Given the description of an element on the screen output the (x, y) to click on. 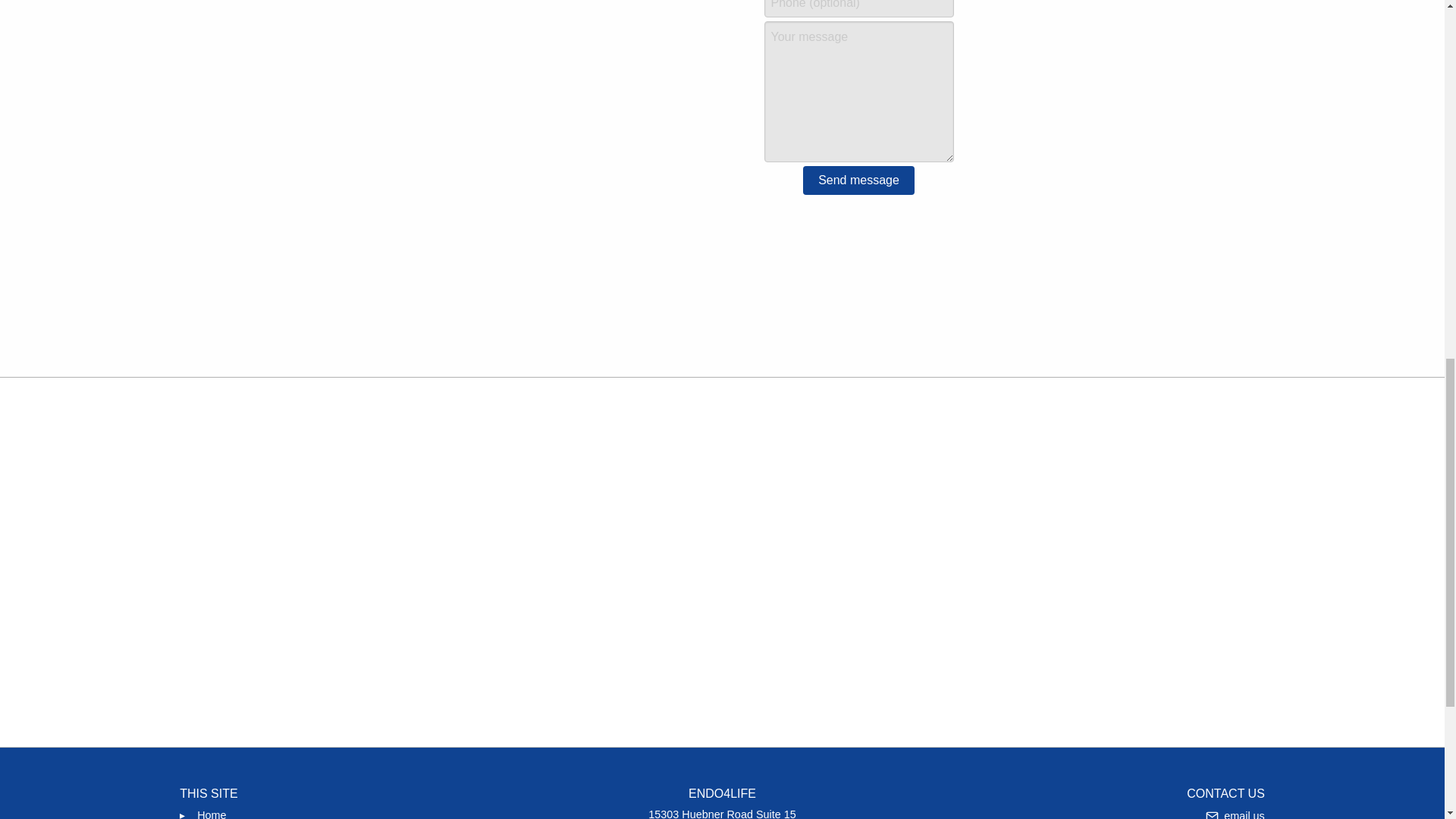
Home (722, 812)
Send message (210, 811)
email us (858, 180)
Send message (1235, 811)
